Given the description of an element on the screen output the (x, y) to click on. 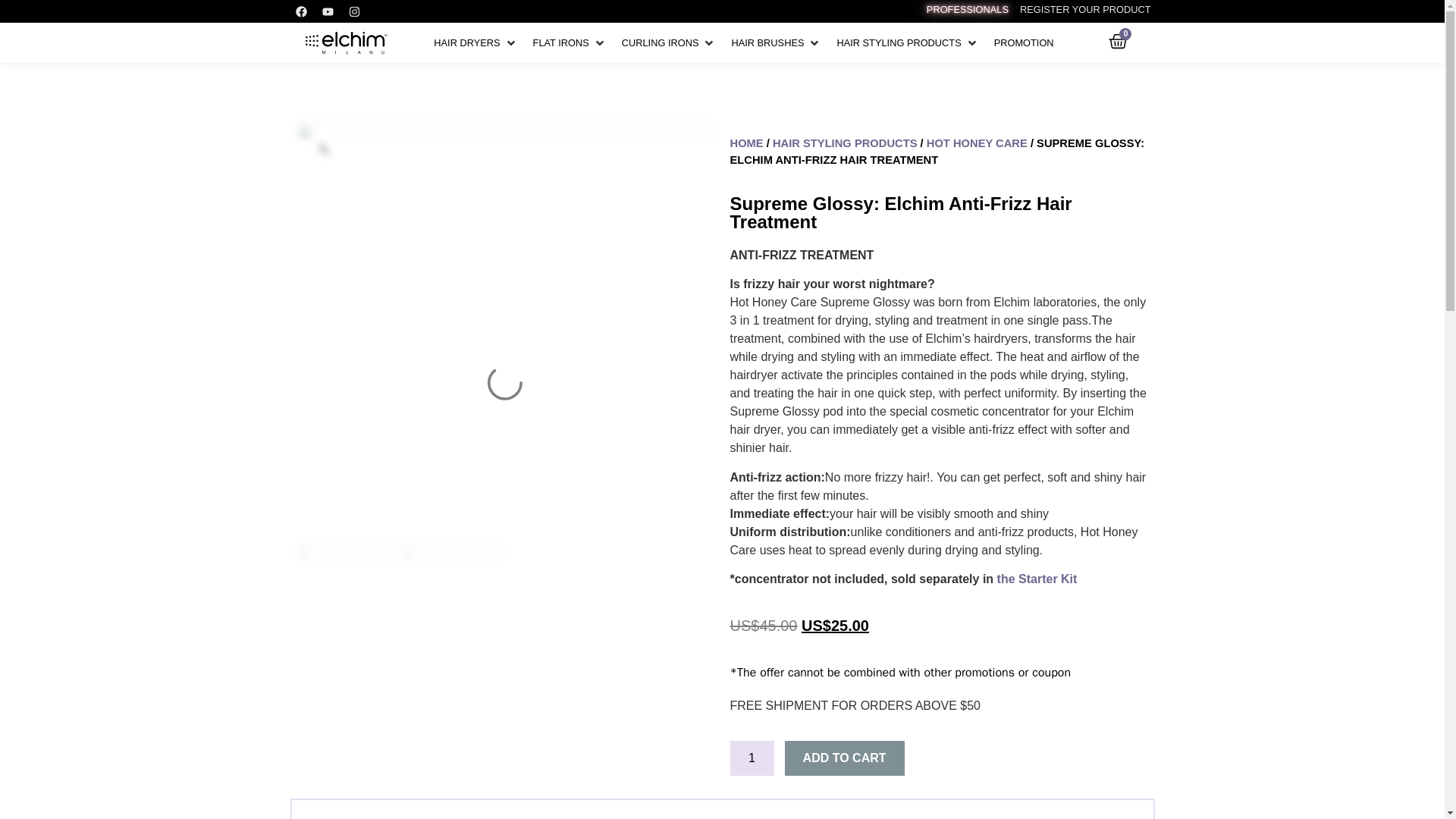
REGISTER YOUR PRODUCT (1085, 9)
FLAT IRONS (560, 42)
1 (751, 758)
PROFESSIONALS (967, 9)
Elchim Milano (345, 42)
HAIR DRYERS (466, 42)
